Given the description of an element on the screen output the (x, y) to click on. 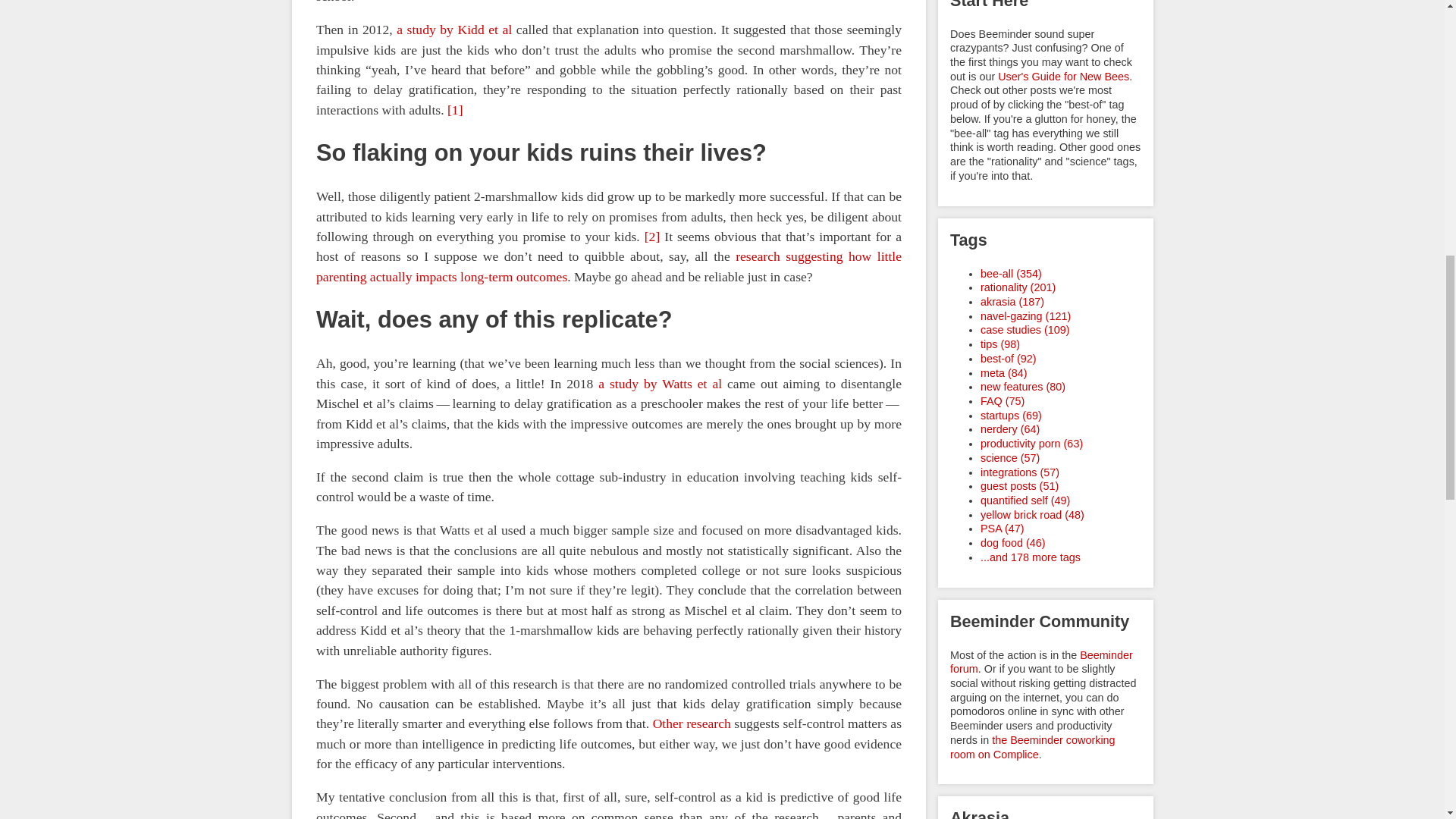
a study by Watts et al (660, 382)
a study by Kidd et al (454, 29)
Bryan Caplan uses this to argue for having more children (608, 265)
Other research (691, 723)
